Given the description of an element on the screen output the (x, y) to click on. 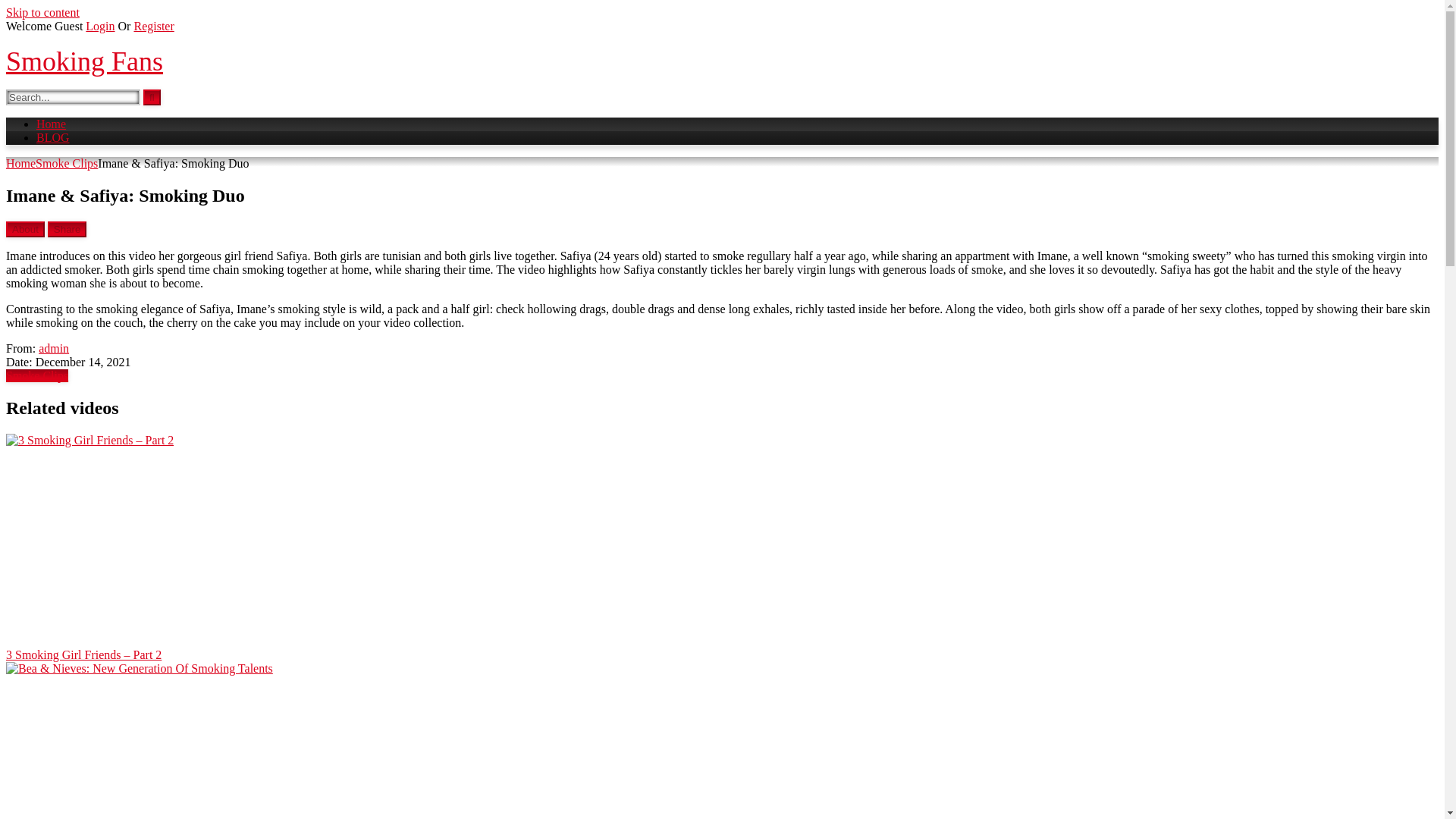
About (25, 229)
Share (67, 229)
Smoke Clips (36, 375)
admin (53, 348)
Login (100, 25)
BLOG (52, 137)
Home (19, 163)
Register (153, 25)
Smoking Fans (84, 60)
Search... (72, 97)
Home (50, 123)
Skip to content (42, 11)
Posts by admin (53, 348)
Smoke Clips (36, 375)
Smoke Clips (65, 163)
